Given the description of an element on the screen output the (x, y) to click on. 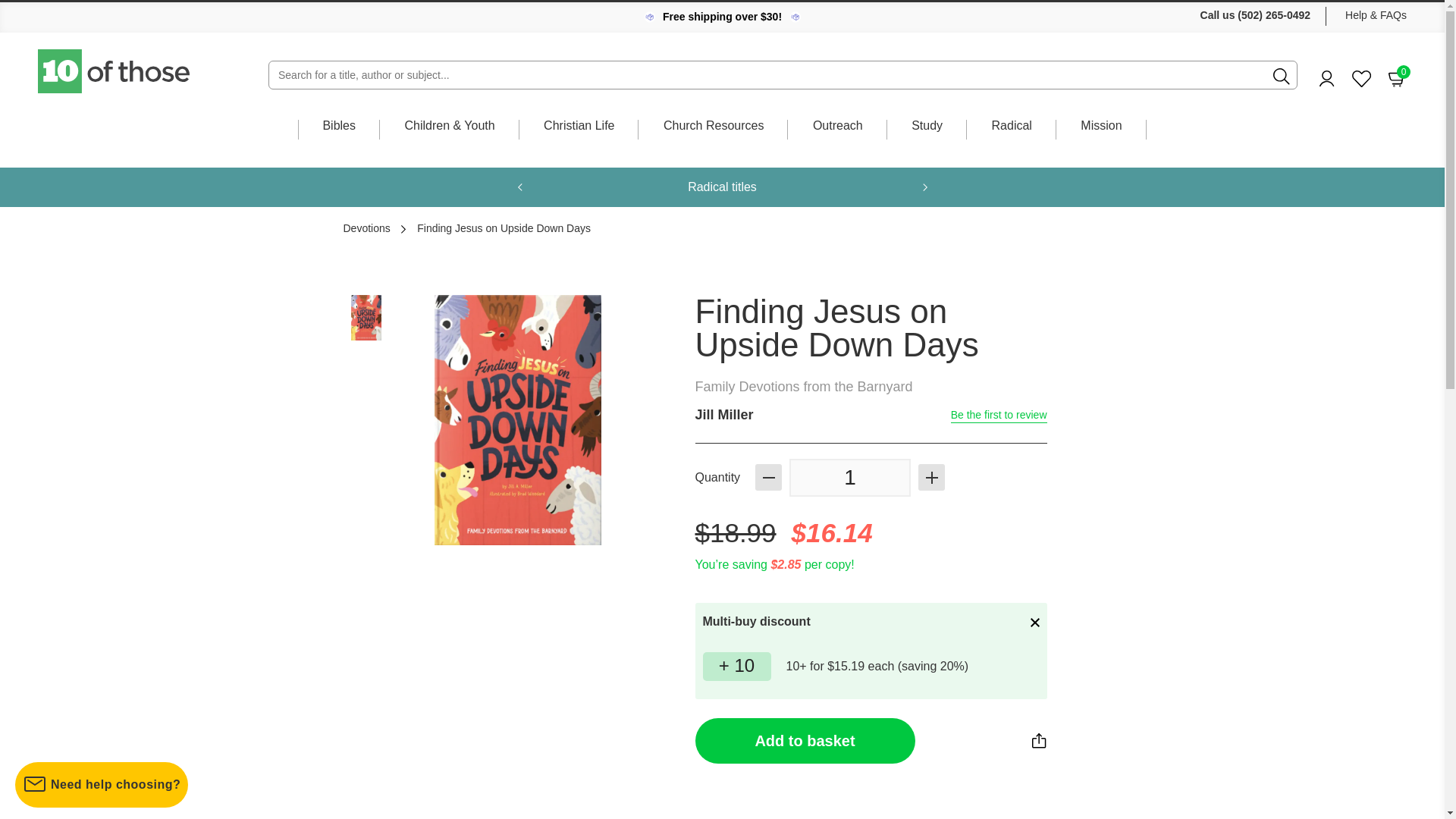
Submit the search query. (1397, 77)
Christian Life (1281, 76)
1 (578, 140)
Favourites (850, 477)
10 of those (1361, 78)
Account (114, 71)
